Given the description of an element on the screen output the (x, y) to click on. 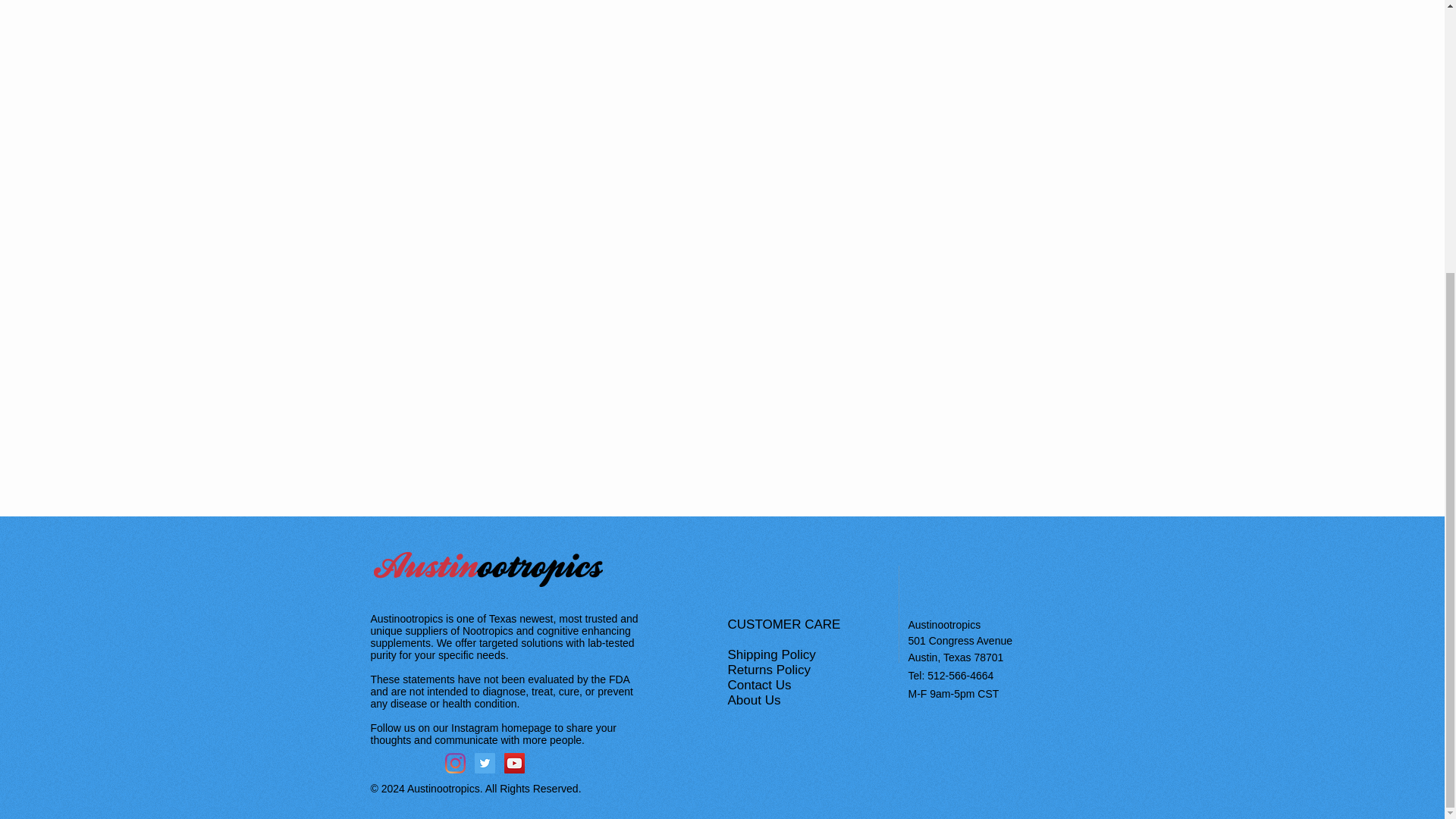
Contact Us  (761, 685)
Shipping Policy  (773, 654)
Returns Policy  (770, 669)
About Us  (756, 699)
